Given the description of an element on the screen output the (x, y) to click on. 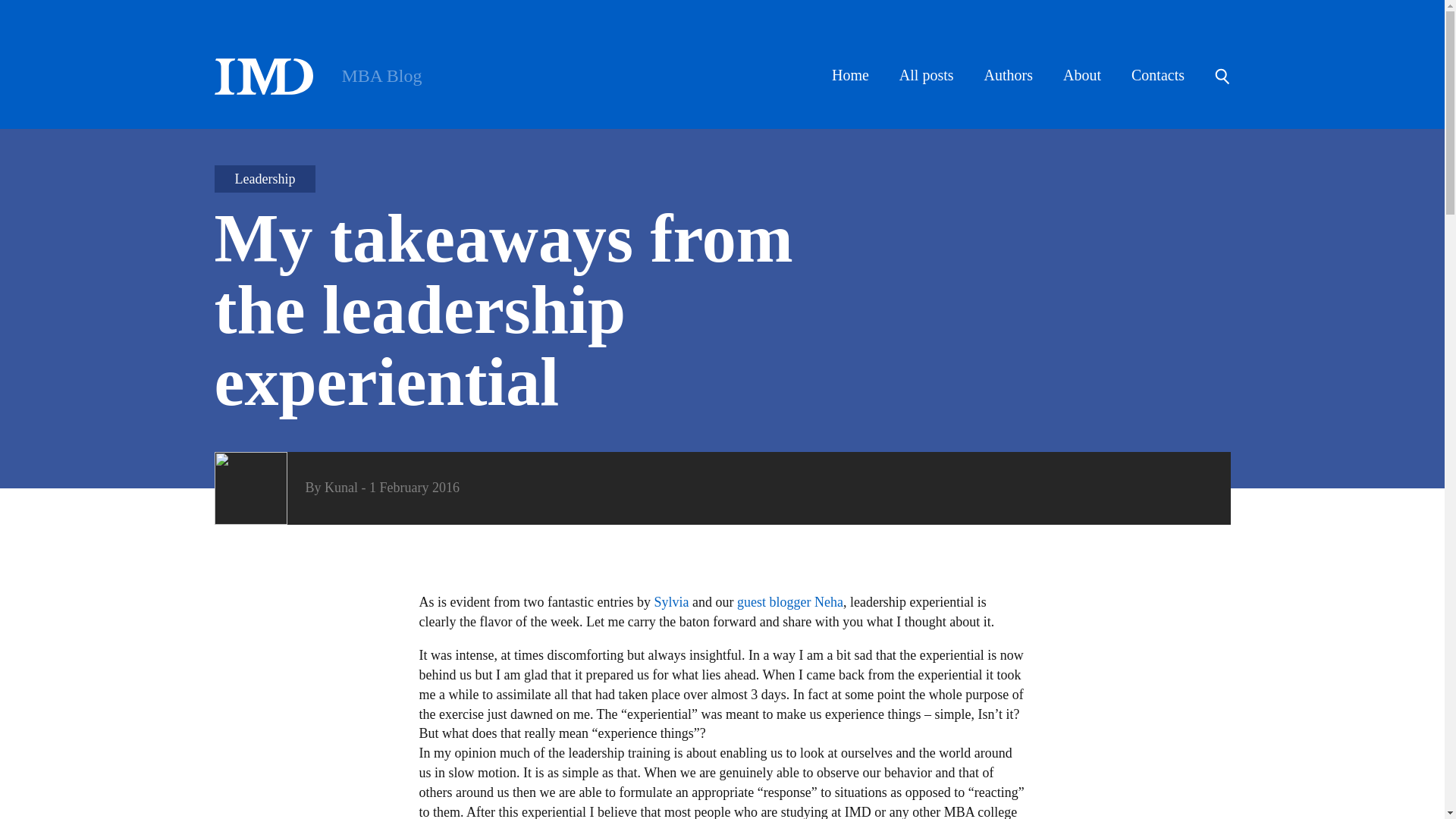
guest blogger Neha (789, 602)
Leadership (264, 178)
Search (1221, 76)
Sylvia (670, 602)
search (19, 18)
Search (1221, 76)
Home (318, 76)
MBA Blog (318, 76)
